Given the description of an element on the screen output the (x, y) to click on. 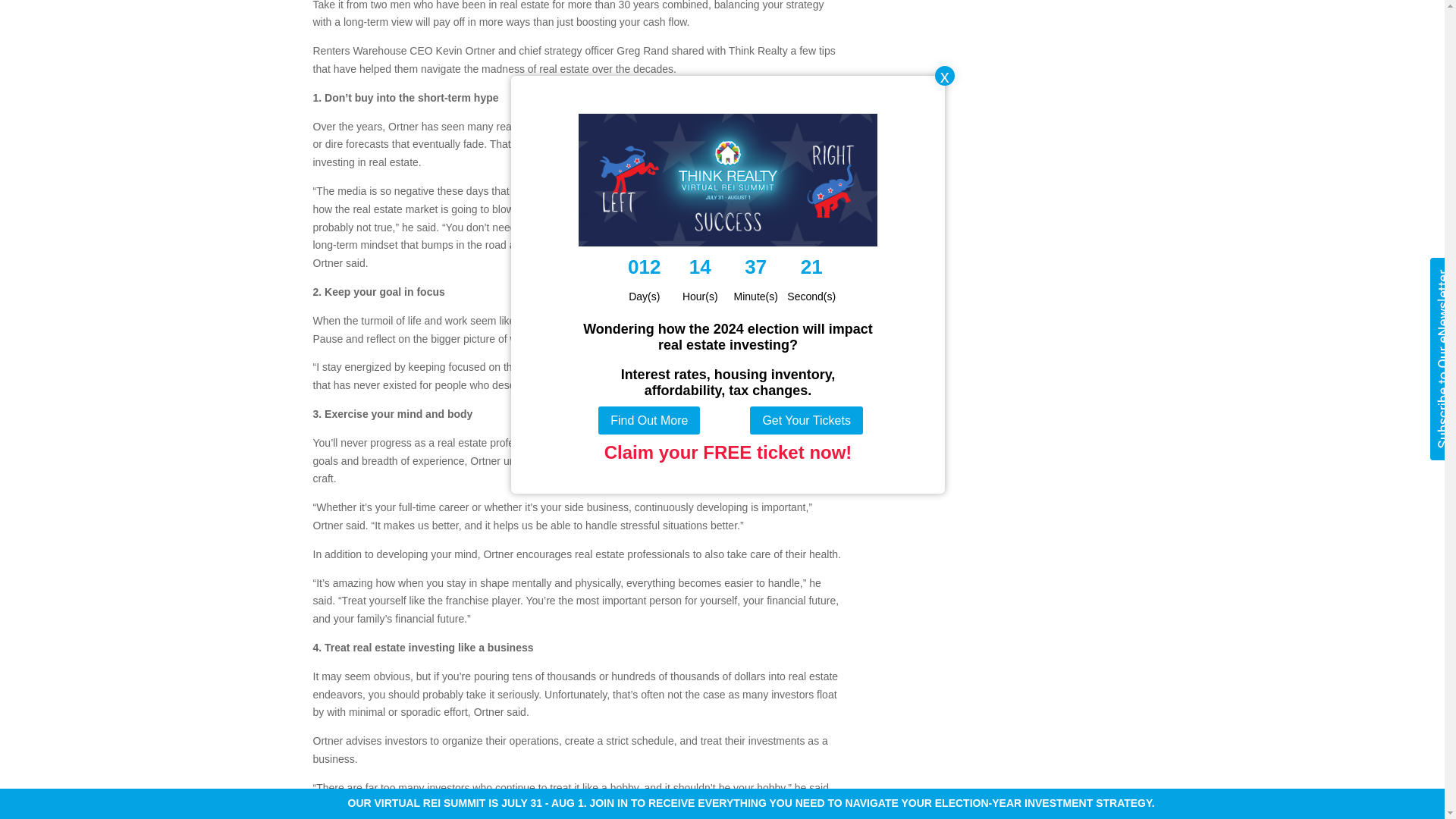
3rd party ad content (1002, 69)
